Given the description of an element on the screen output the (x, y) to click on. 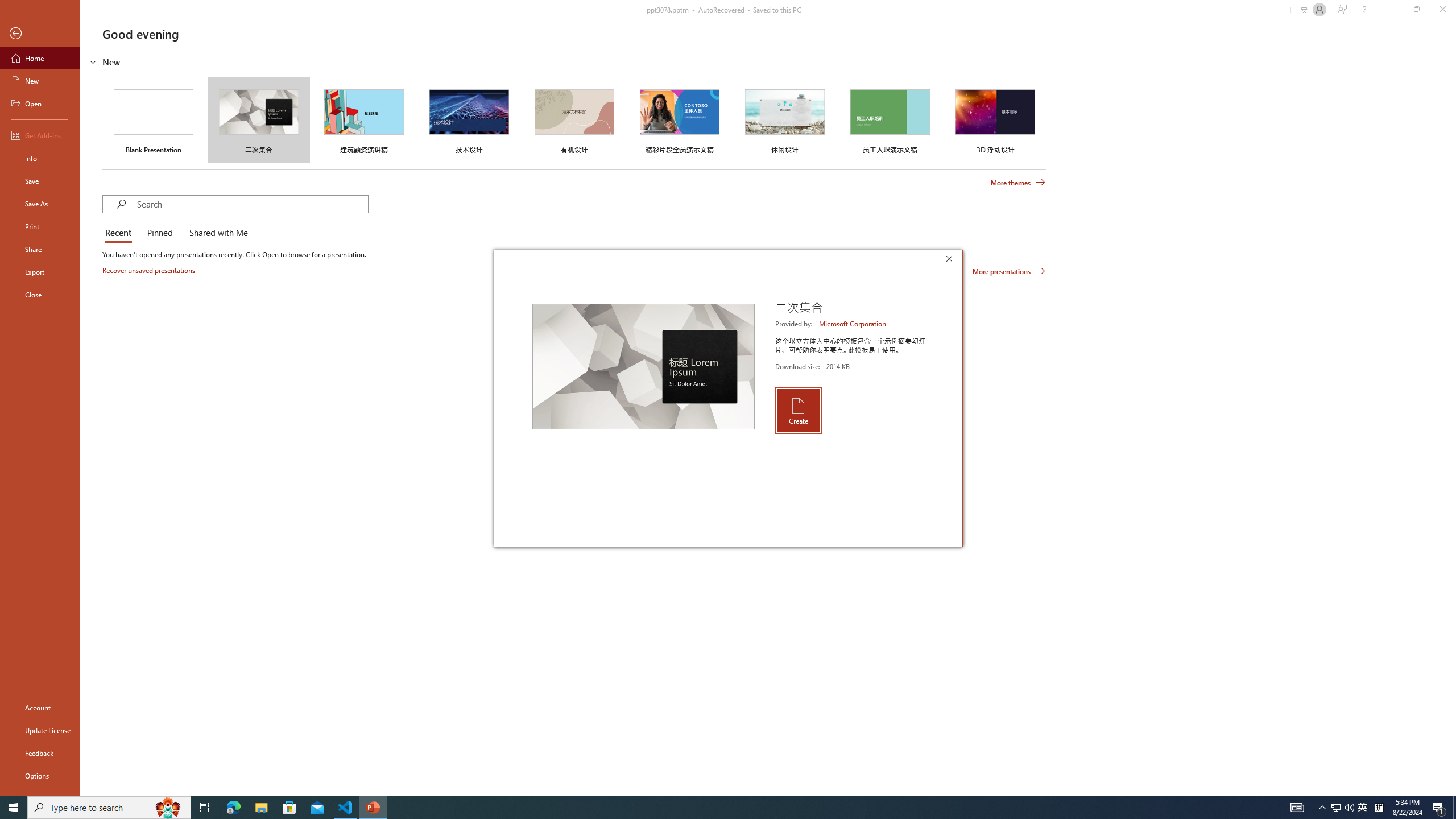
Feedback (40, 753)
New (40, 80)
